Given the description of an element on the screen output the (x, y) to click on. 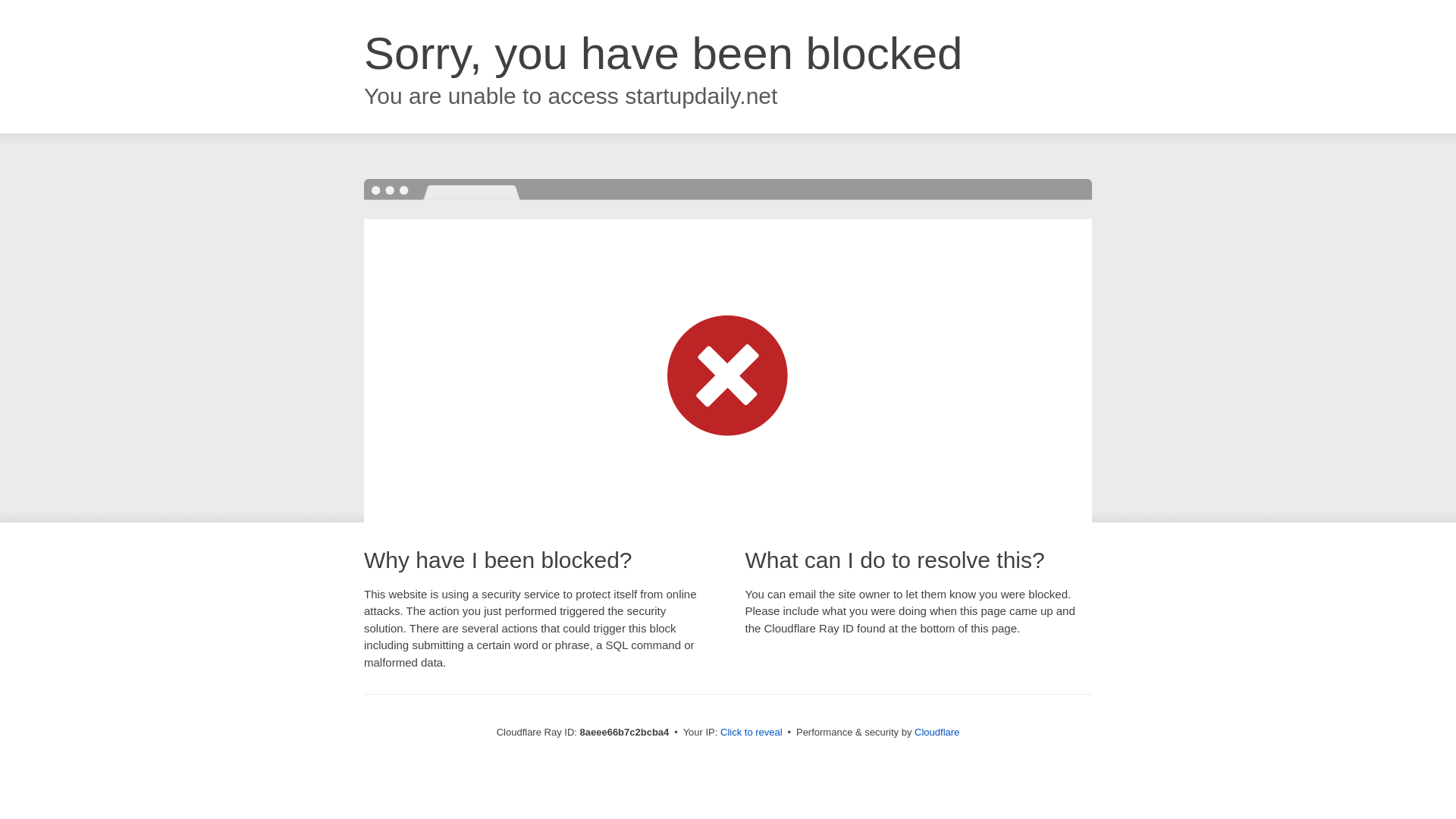
Click to reveal (751, 732)
Cloudflare (936, 731)
